Given the description of an element on the screen output the (x, y) to click on. 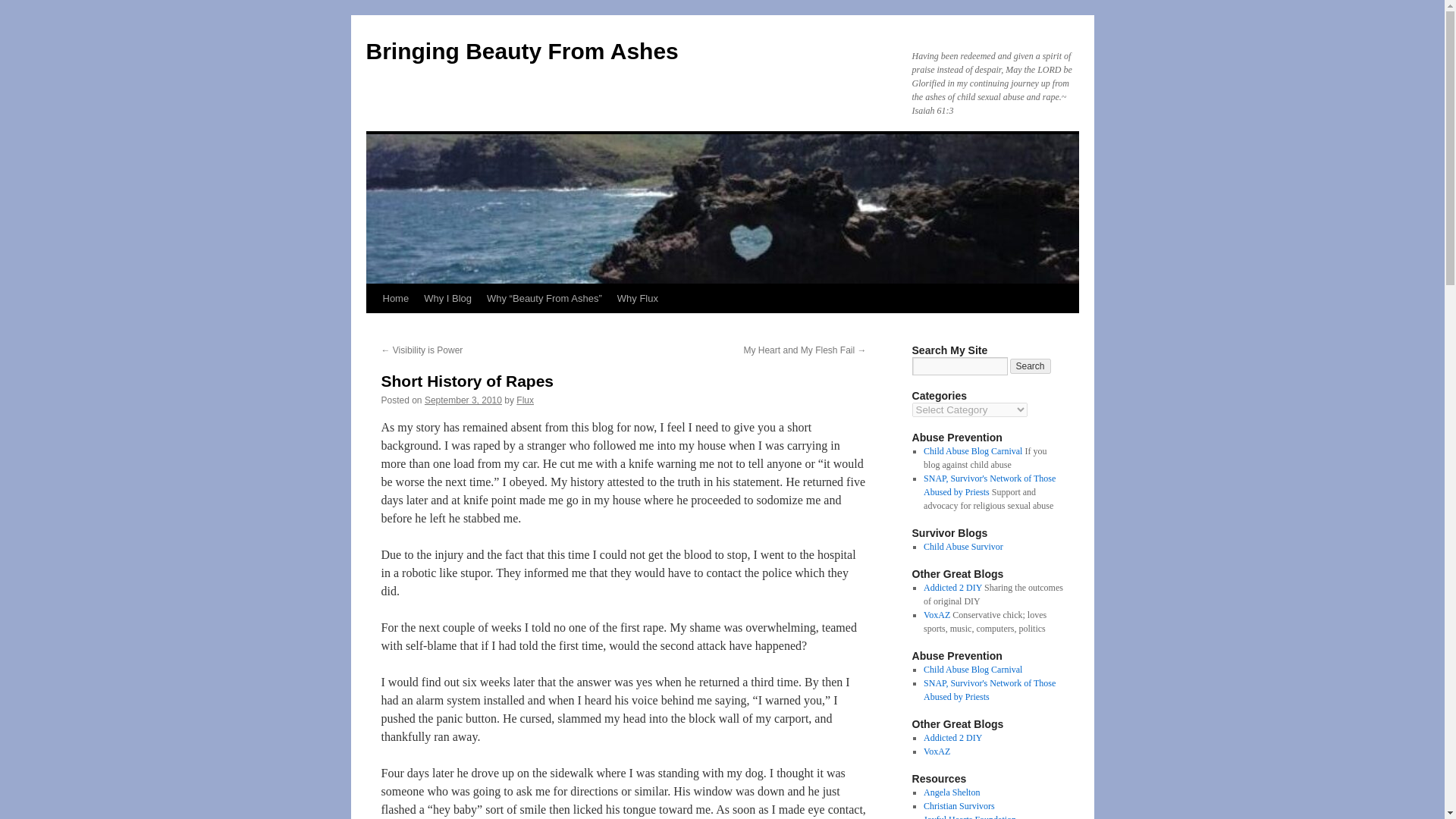
If you blog against child abuse (972, 669)
Bringing Beauty From Ashes (521, 50)
Why Flux (637, 298)
Christian Survivors (958, 805)
Home (395, 298)
If you blog against child abuse (972, 450)
Why I Blog (447, 298)
Addicted 2 DIY (952, 587)
September 3, 2010 (463, 399)
Survivor, Author, Speaker, Healing Resource (951, 792)
Addicted 2 DIY (952, 737)
2:04 pm (463, 399)
Support and advocacy for religious sexual abuse (989, 485)
Flux (525, 399)
SNAP, Survivor's Network of Those Abused by Priests (989, 485)
